Given the description of an element on the screen output the (x, y) to click on. 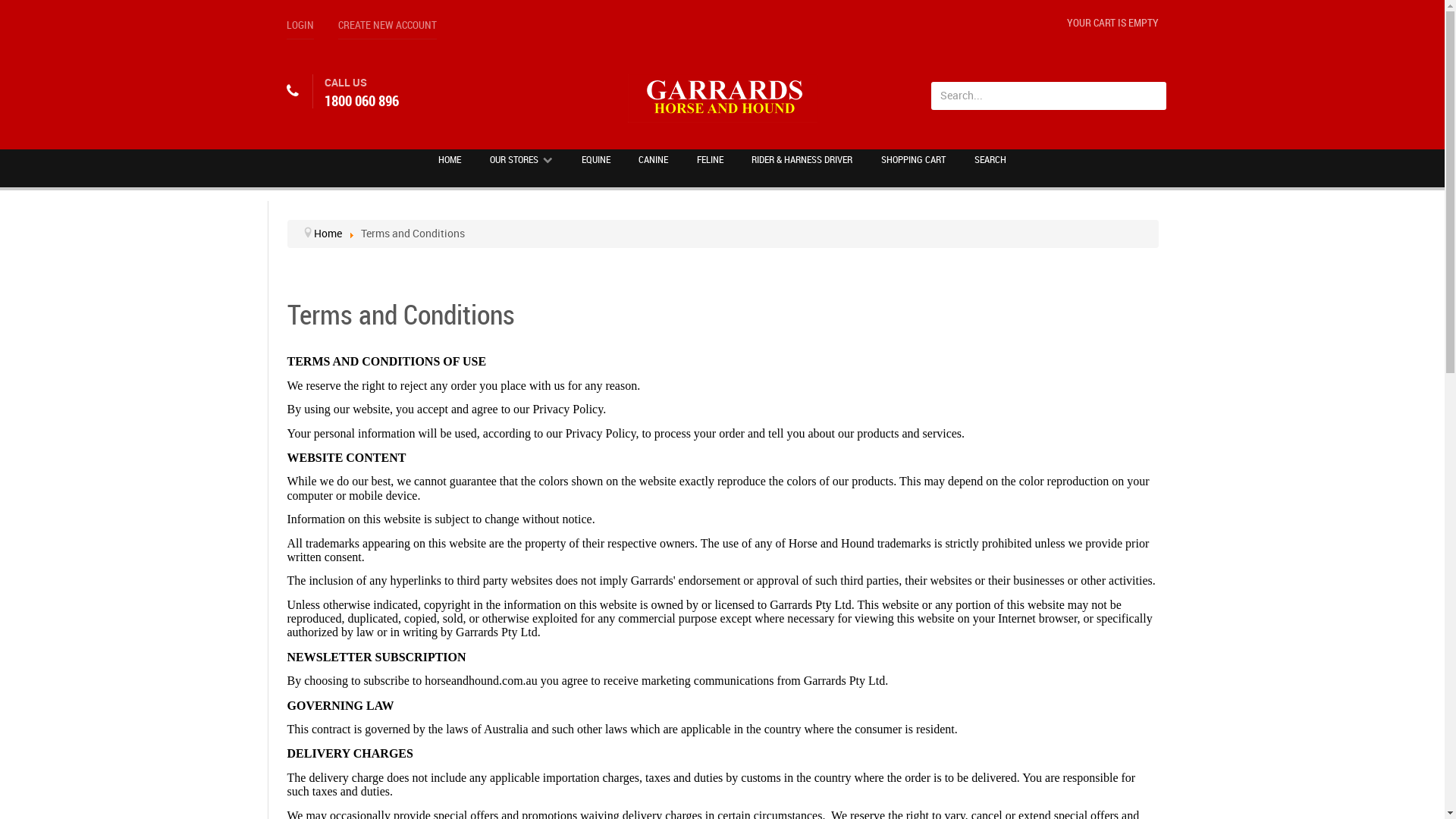
EQUINE Element type: text (595, 159)
CANINE Element type: text (653, 159)
SEARCH Element type: text (990, 159)
FELINE Element type: text (709, 159)
Home Element type: text (327, 233)
HOME Element type: text (449, 159)
SHOPPING CART Element type: text (913, 159)
CREATE NEW ACCOUNT Element type: text (387, 28)
LOGIN Element type: text (299, 28)
RIDER & HARNESS DRIVER Element type: text (801, 159)
OUR STORES Element type: text (520, 159)
MONTHLY SPECIALS Element type: text (418, 19)
